Given the description of an element on the screen output the (x, y) to click on. 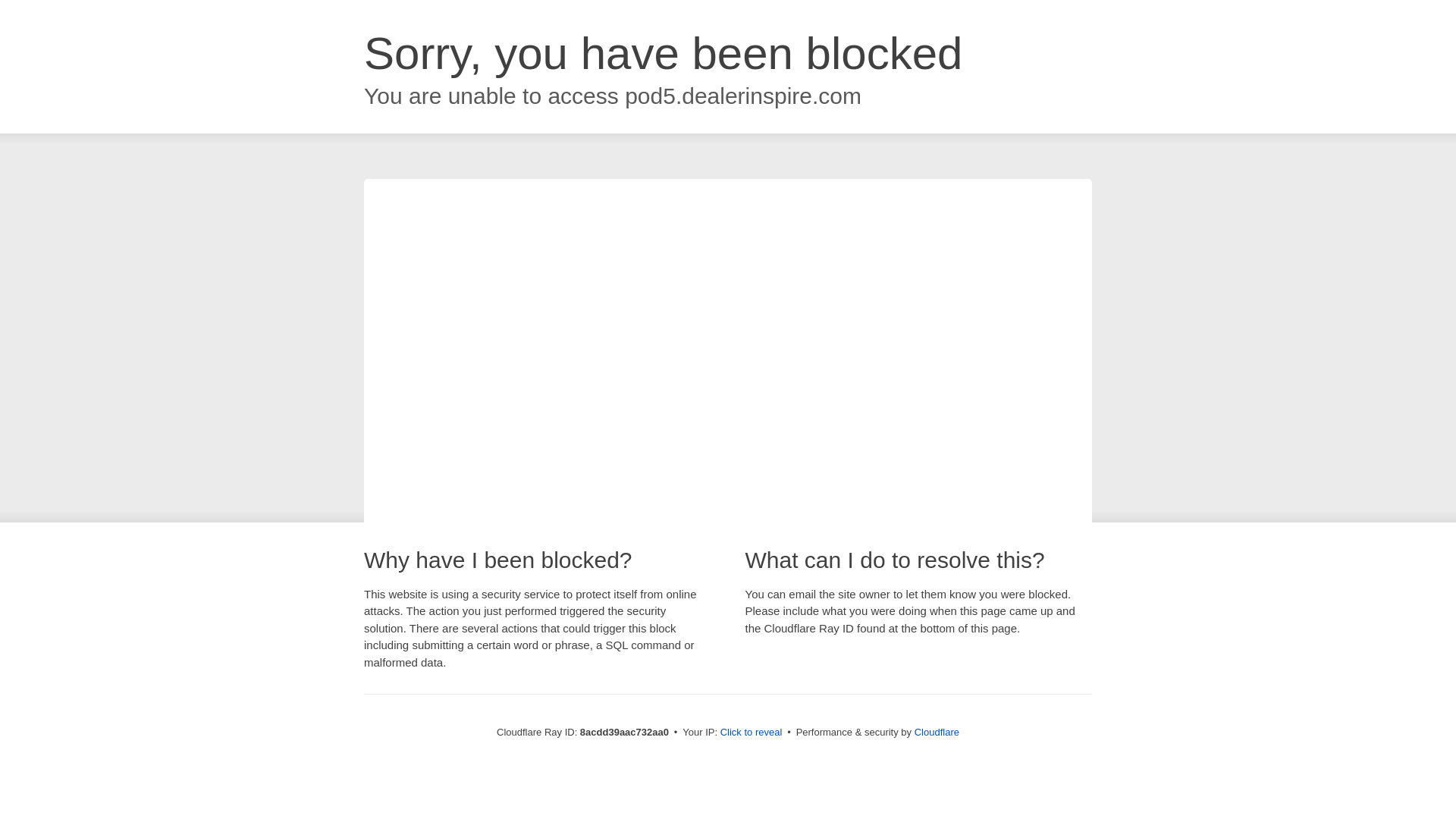
Click to reveal (751, 732)
Cloudflare (936, 731)
